Given the description of an element on the screen output the (x, y) to click on. 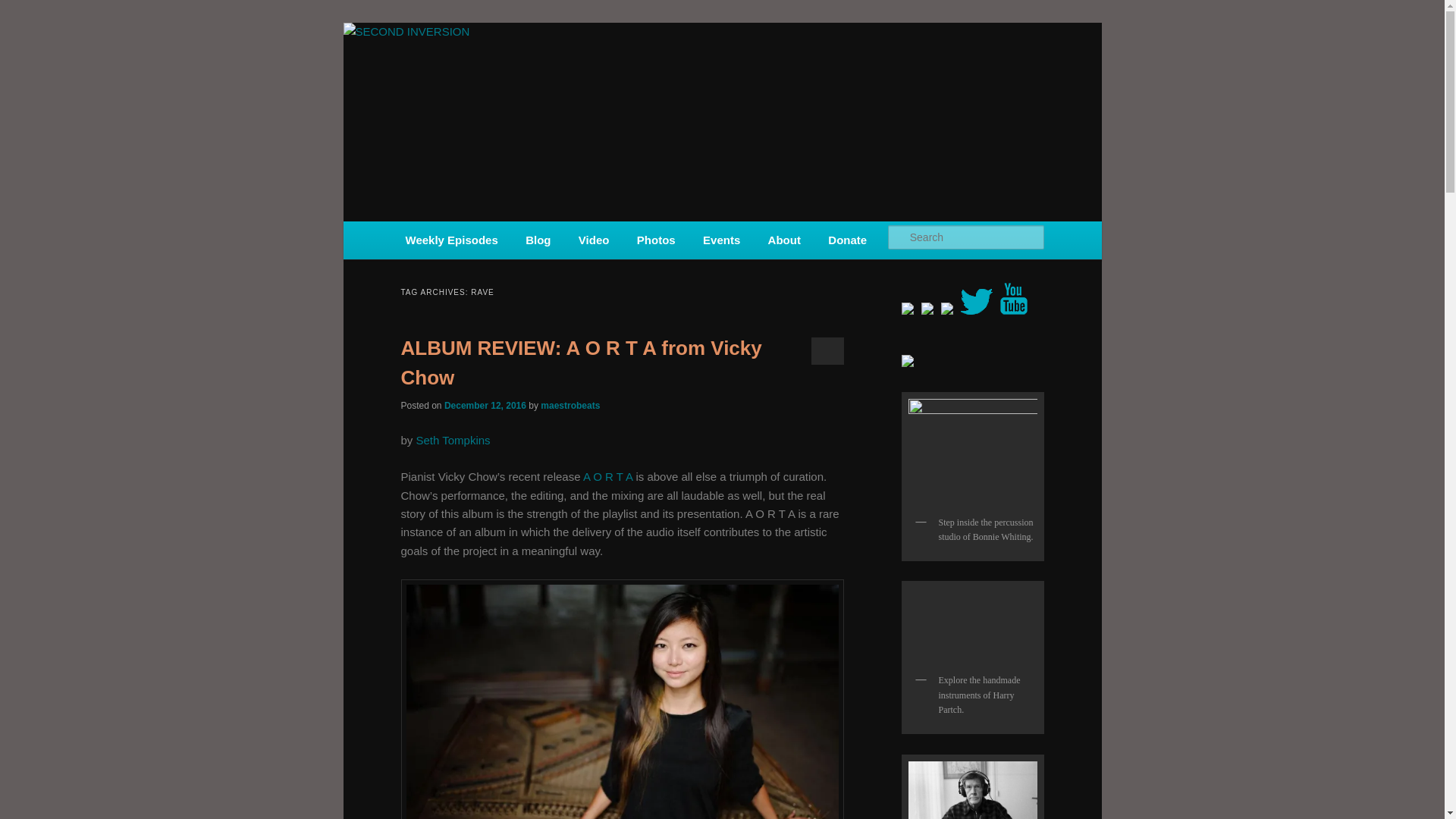
Blog (538, 240)
Weekly Episodes (451, 240)
maestrobeats (569, 405)
Donate (846, 240)
About (783, 240)
A O R T A (607, 476)
Photos (655, 240)
Events (721, 240)
SECOND INVERSION (514, 77)
Seth Tompkins (453, 440)
